Given the description of an element on the screen output the (x, y) to click on. 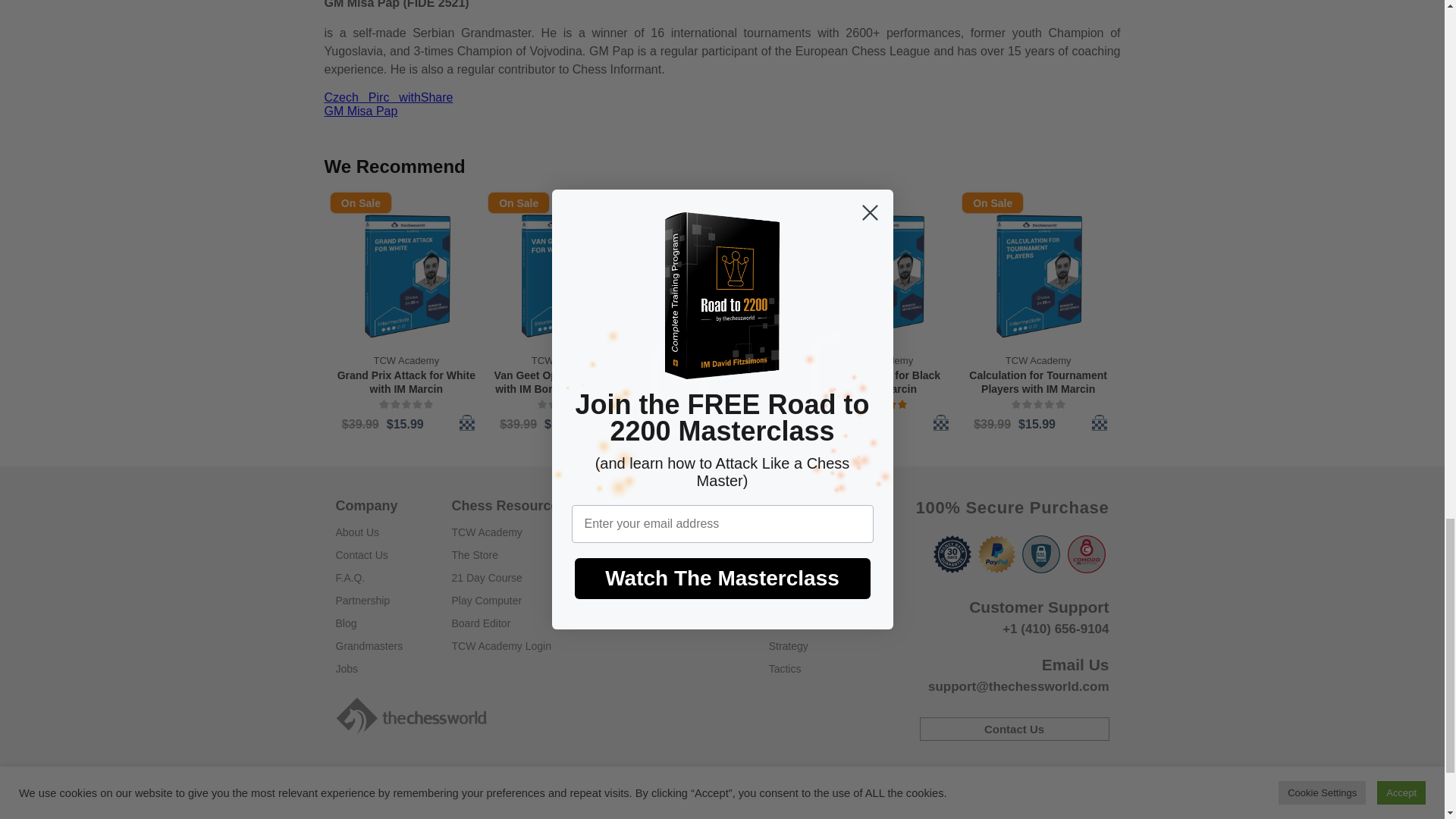
Grand Prix Attack for White with IM Marcin Sieciechowicz (406, 381)
Czech Pirc with GM Misa Pap (372, 103)
Share (436, 97)
